Given the description of an element on the screen output the (x, y) to click on. 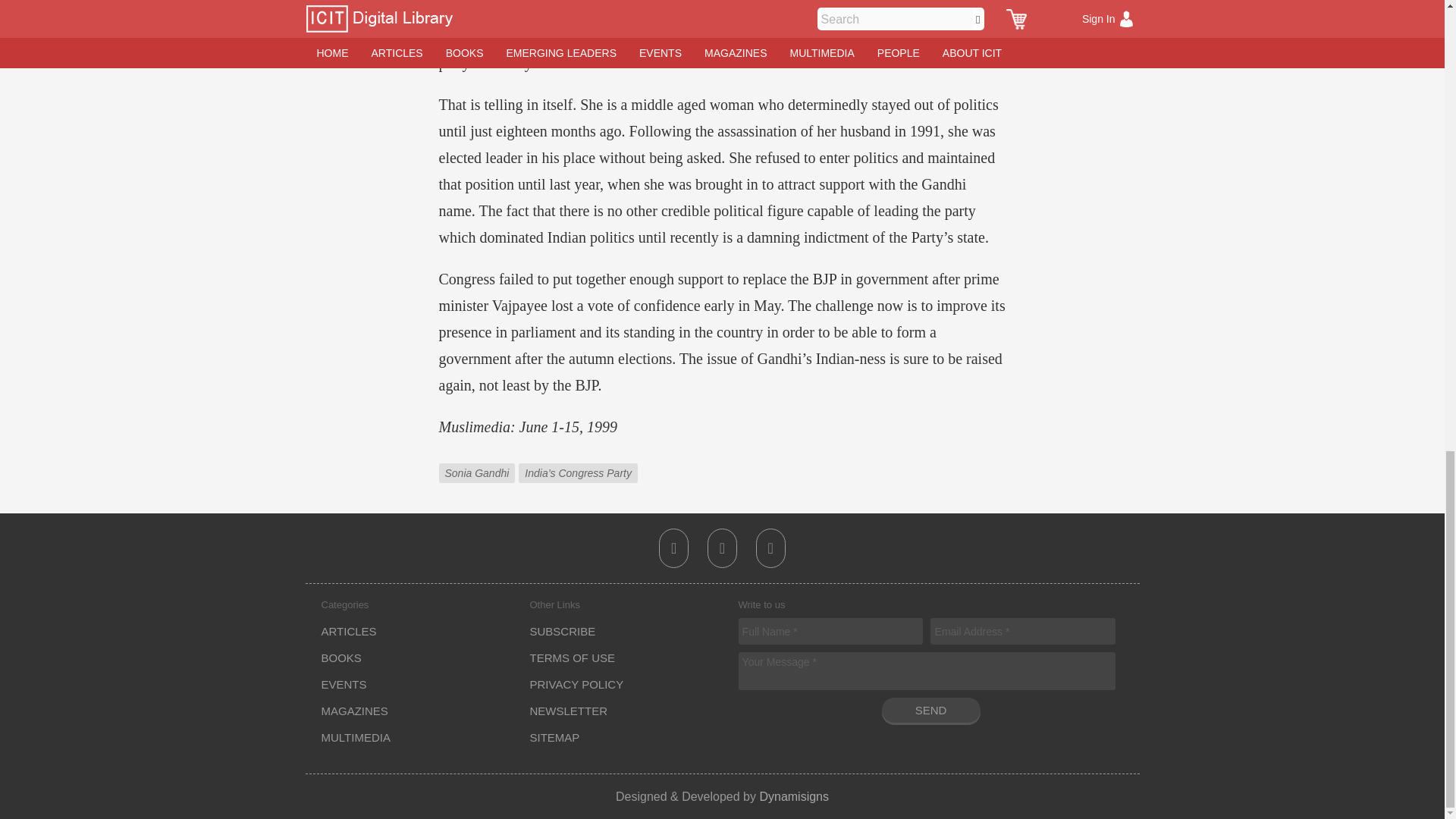
MAGAZINES (354, 710)
EVENTS (343, 684)
Web designing firm (793, 796)
PRIVACY POLICY (576, 684)
TERMS OF USE (571, 657)
BOOKS (341, 657)
Dynamisigns (793, 796)
SITEMAP (554, 737)
MULTIMEDIA (355, 737)
SUBSCRIBE (562, 631)
